Given the description of an element on the screen output the (x, y) to click on. 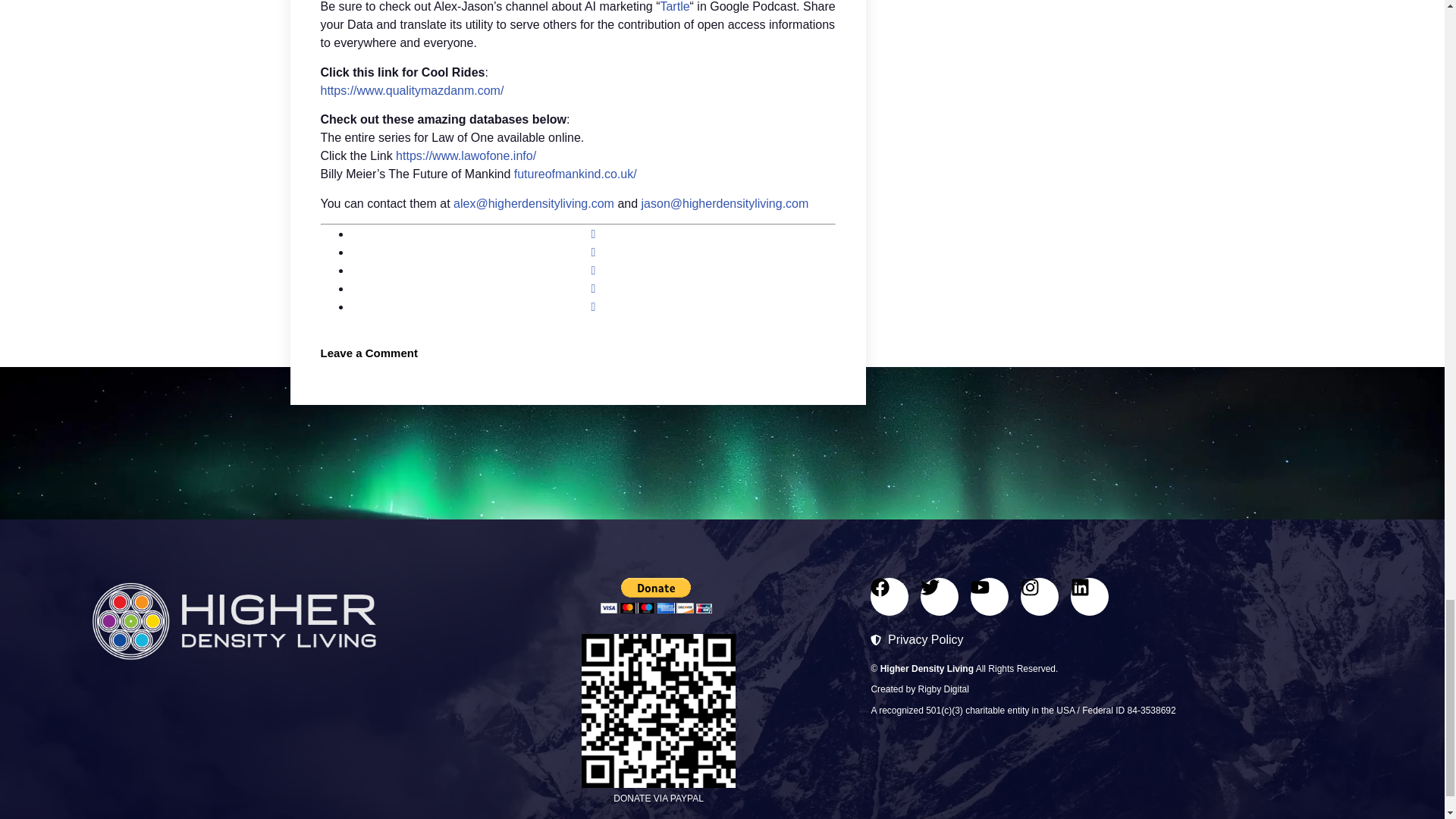
Tartle (673, 6)
PayPal - The safer, easier way to pay online! (655, 595)
